Given the description of an element on the screen output the (x, y) to click on. 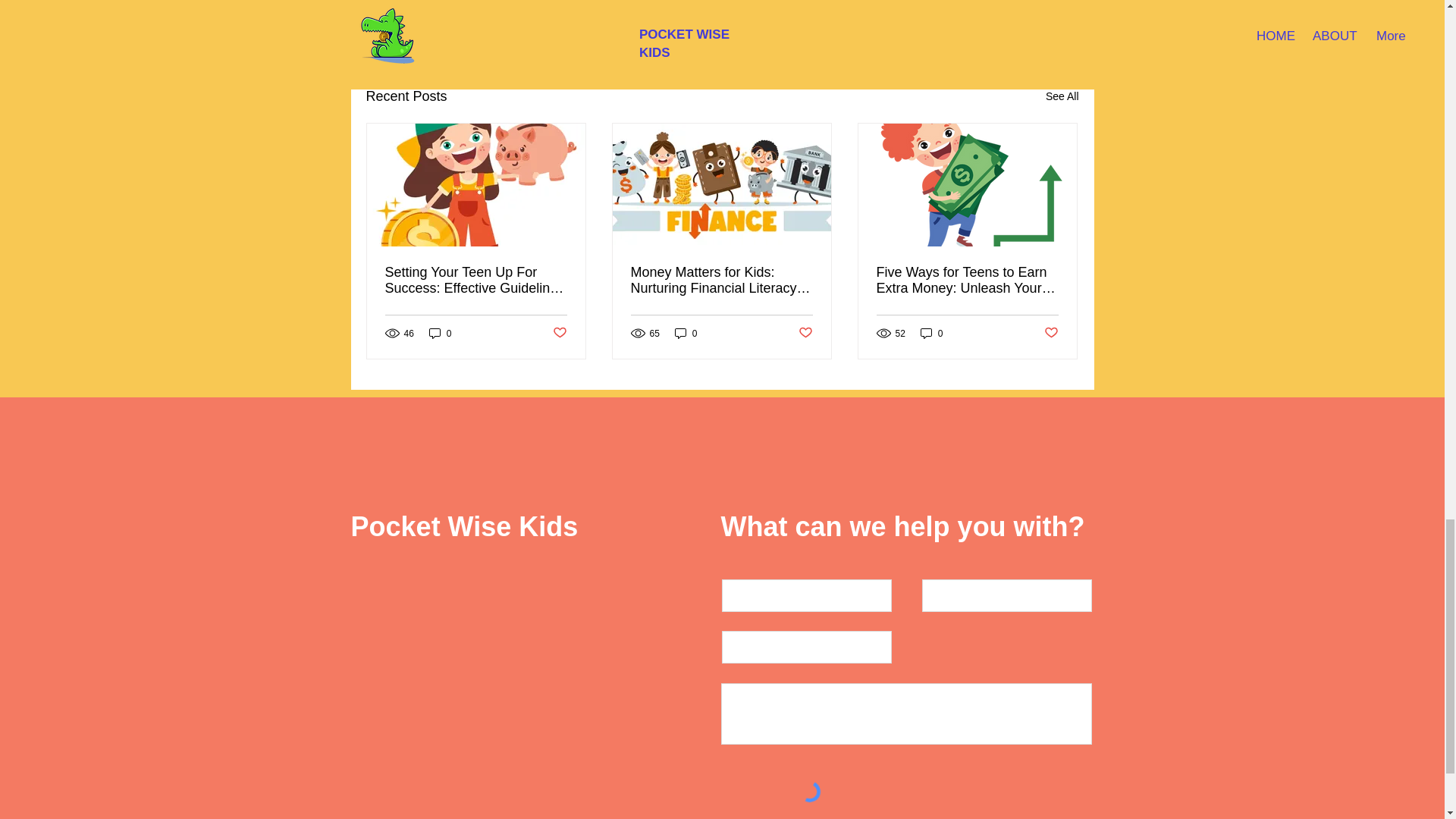
Post not marked as liked (558, 333)
0 (685, 332)
0 (931, 332)
Post not marked as liked (1050, 333)
See All (1061, 96)
Post not marked as liked (804, 333)
Post not marked as liked (995, 13)
0 (440, 332)
